Given the description of an element on the screen output the (x, y) to click on. 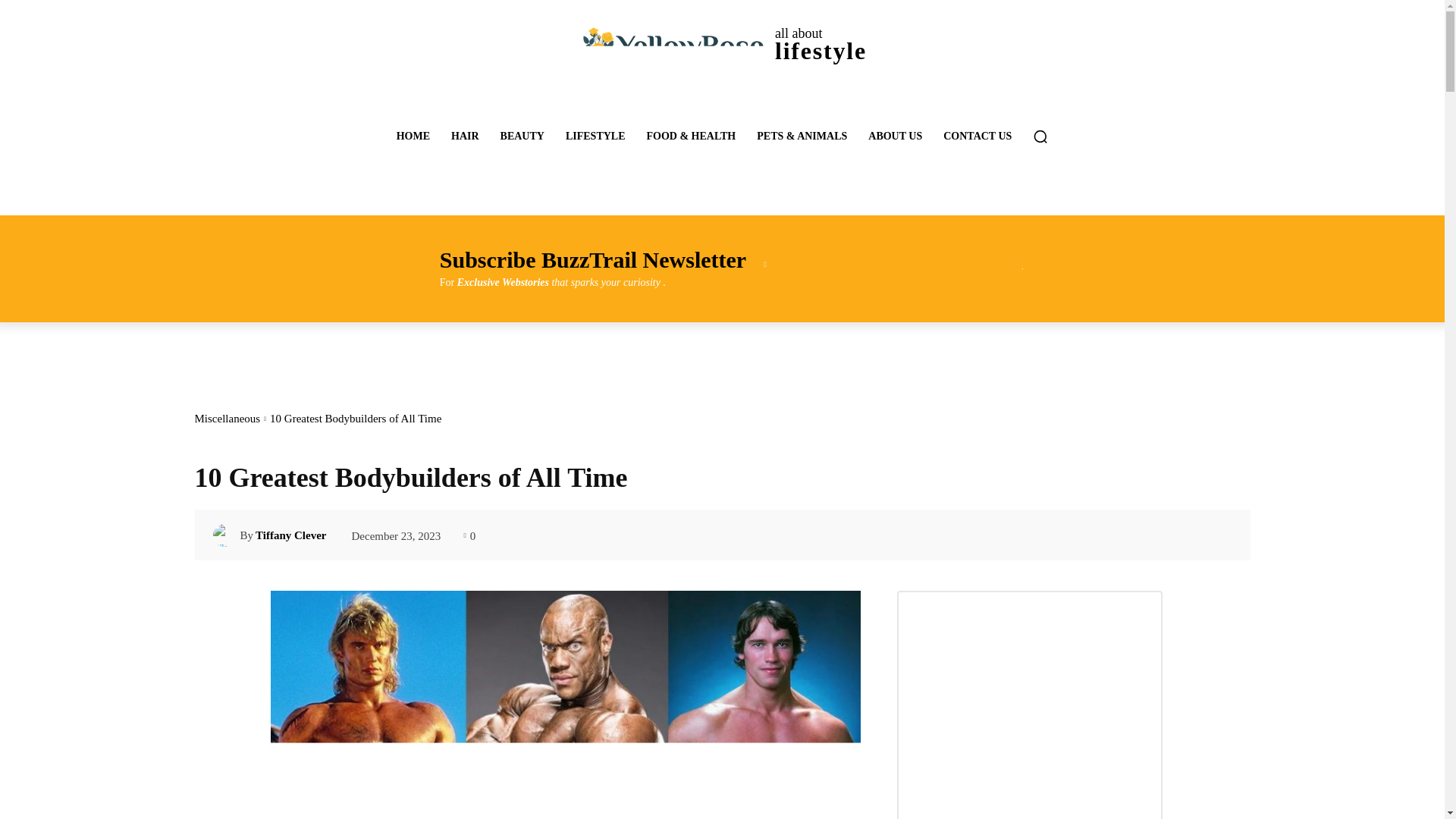
Miscellaneous (226, 418)
BEAUTY (521, 135)
CONTACT US (721, 44)
LIFESTYLE (977, 135)
Tiffany Clever (595, 135)
HOME (291, 535)
ABOUT US (413, 135)
HAIR (895, 135)
Tiffany Clever (465, 135)
View all posts in Miscellaneous (226, 535)
